Given the description of an element on the screen output the (x, y) to click on. 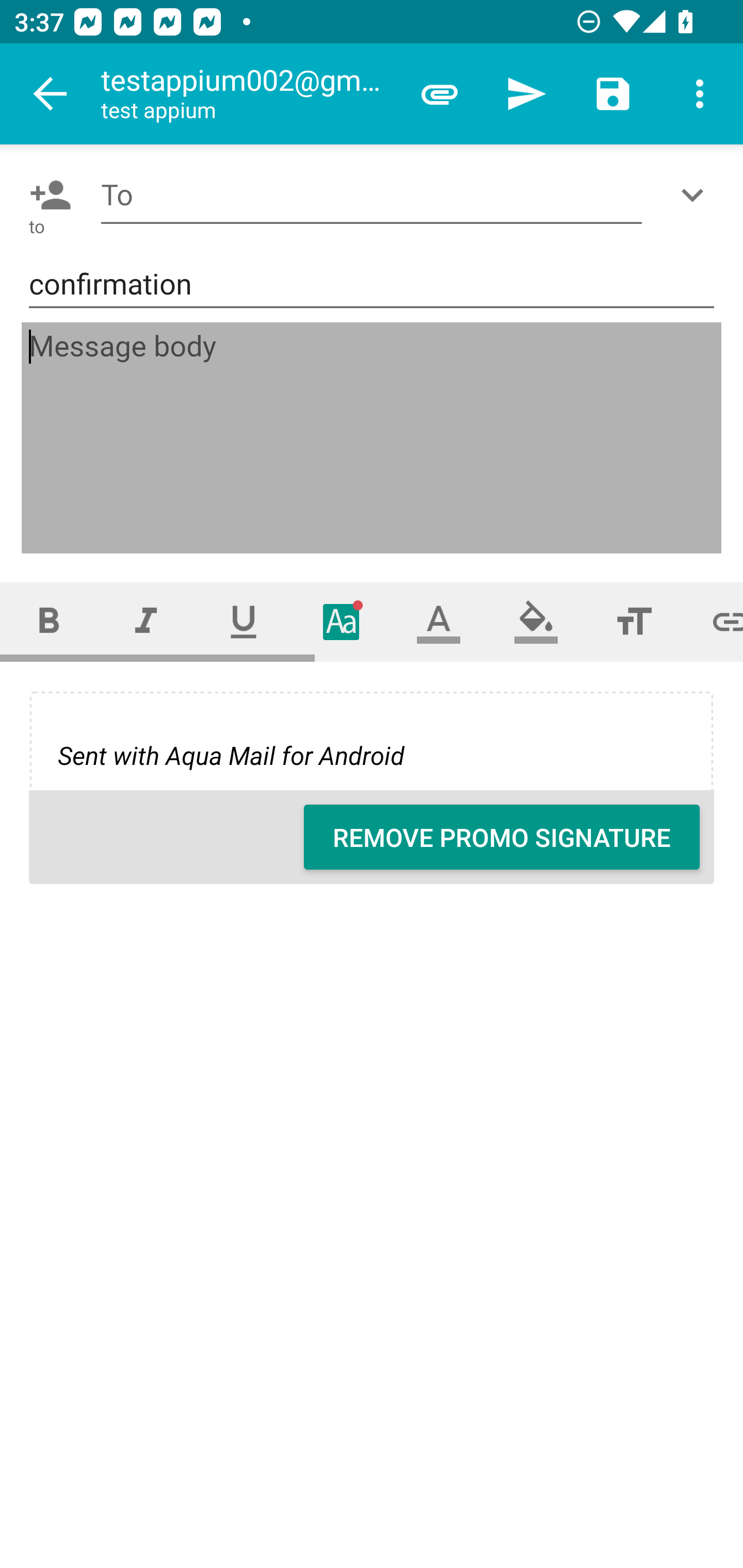
Navigate up (50, 93)
testappium002@gmail.com test appium (248, 93)
Attach (439, 93)
Send (525, 93)
Save (612, 93)
More options (699, 93)
Pick contact: To (46, 195)
Show/Add CC/BCC (696, 195)
To (371, 195)
confirmation (371, 284)
Message body (372, 438)
Bold (48, 621)
Italic (145, 621)
Underline (243, 621)
Typeface (font) (341, 621)
Text color (438, 621)
Fill color (536, 621)
Font size (633, 621)
REMOVE PROMO SIGNATURE (501, 837)
